Given the description of an element on the screen output the (x, y) to click on. 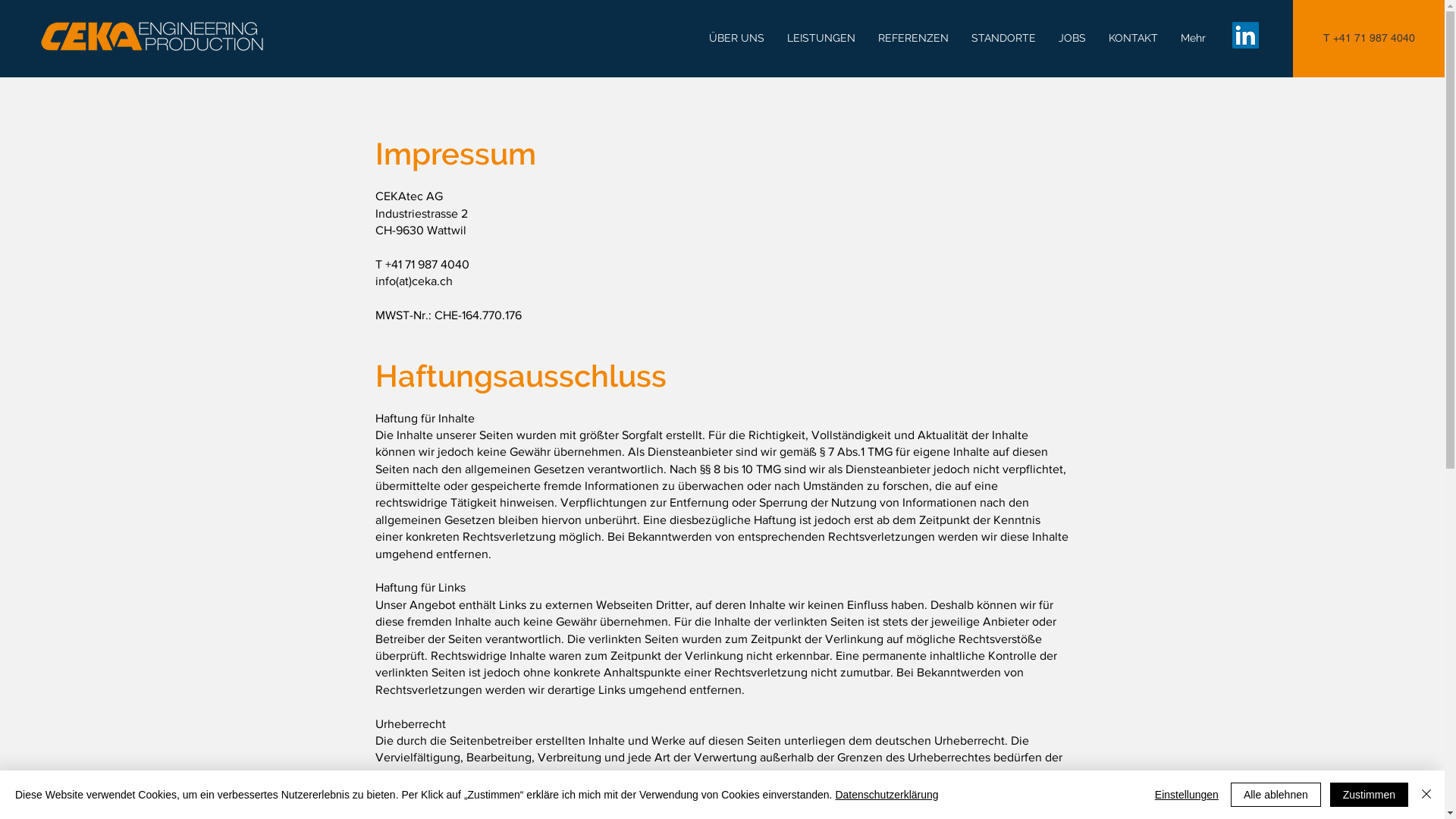
KONTAKT Element type: text (1133, 37)
Zustimmen Element type: text (1369, 794)
STANDORTE Element type: text (1003, 37)
JOBS Element type: text (1072, 37)
REFERENZEN Element type: text (913, 37)
info(at)ceka.ch Element type: text (412, 280)
LEISTUNGEN Element type: text (820, 37)
T +41 71 987 4040 Element type: text (1368, 38)
Alle ablehnen Element type: text (1275, 794)
